Given the description of an element on the screen output the (x, y) to click on. 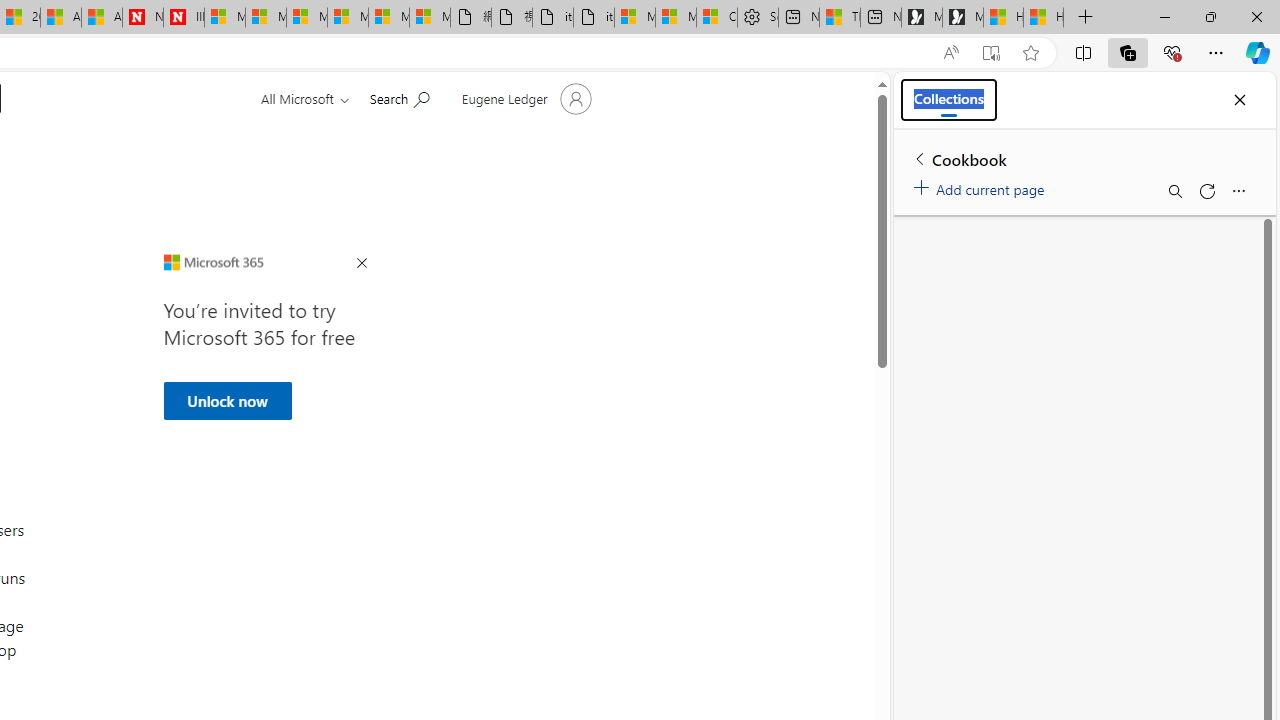
Close Ad (361, 264)
Enter Immersive Reader (F9) (991, 53)
Microsoft Services Agreement (265, 17)
Account manager for Eugene Ledger (524, 98)
Add current page (982, 186)
